Given the description of an element on the screen output the (x, y) to click on. 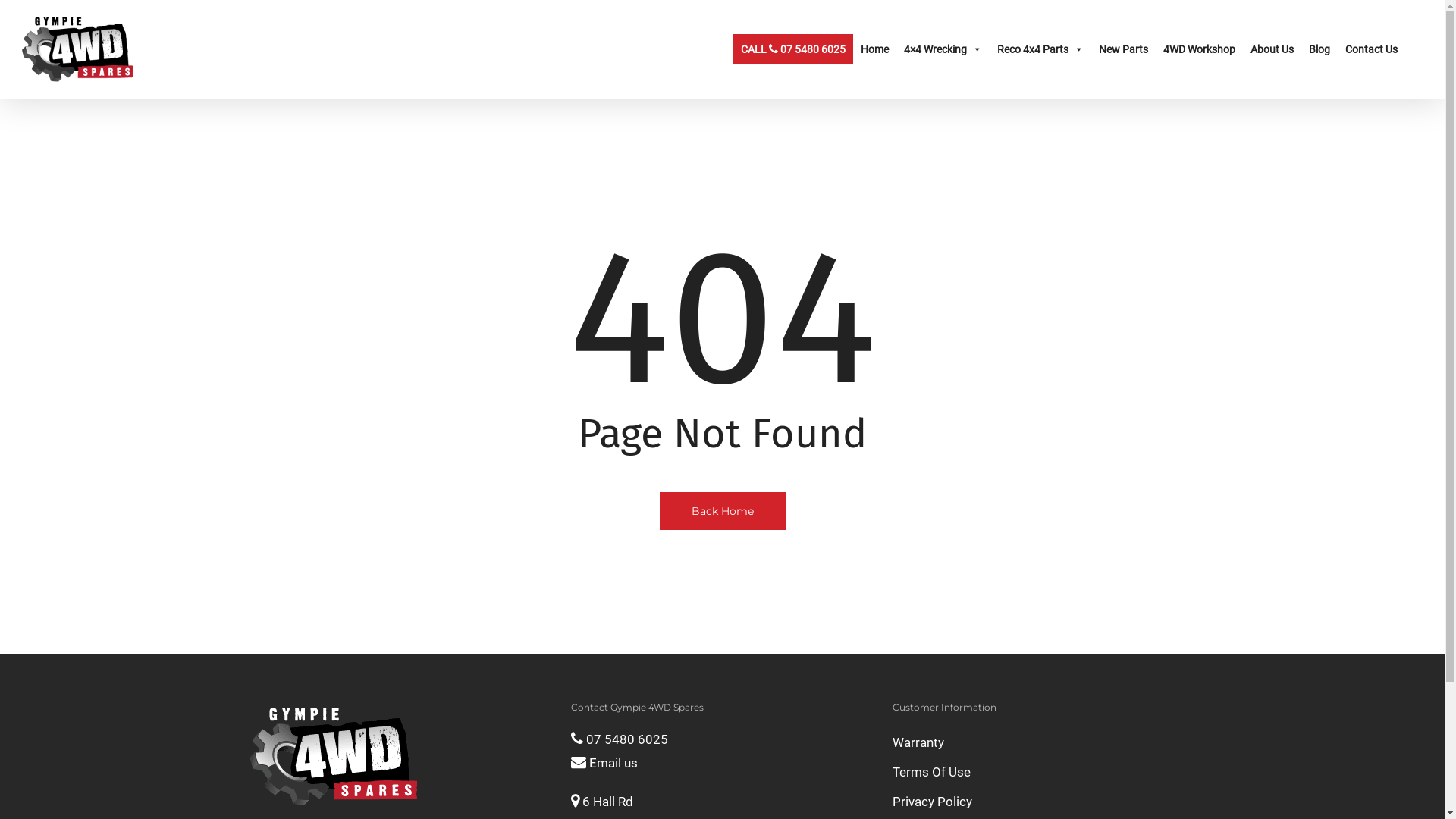
Back Home Element type: text (722, 510)
Home Element type: text (874, 49)
Contact Us Element type: text (1371, 49)
New Parts Element type: text (1123, 49)
CALL 07 5480 6025 Element type: text (793, 49)
4WD Workshop Element type: text (1198, 49)
Privacy Policy Element type: text (1043, 801)
Reco 4x4 Parts Element type: text (1040, 49)
Terms Of Use Element type: text (1043, 772)
Blog Element type: text (1319, 49)
07 5480 6025 Element type: text (619, 738)
Warranty Element type: text (1043, 742)
About Us Element type: text (1271, 49)
Email us Element type: text (604, 762)
